Given the description of an element on the screen output the (x, y) to click on. 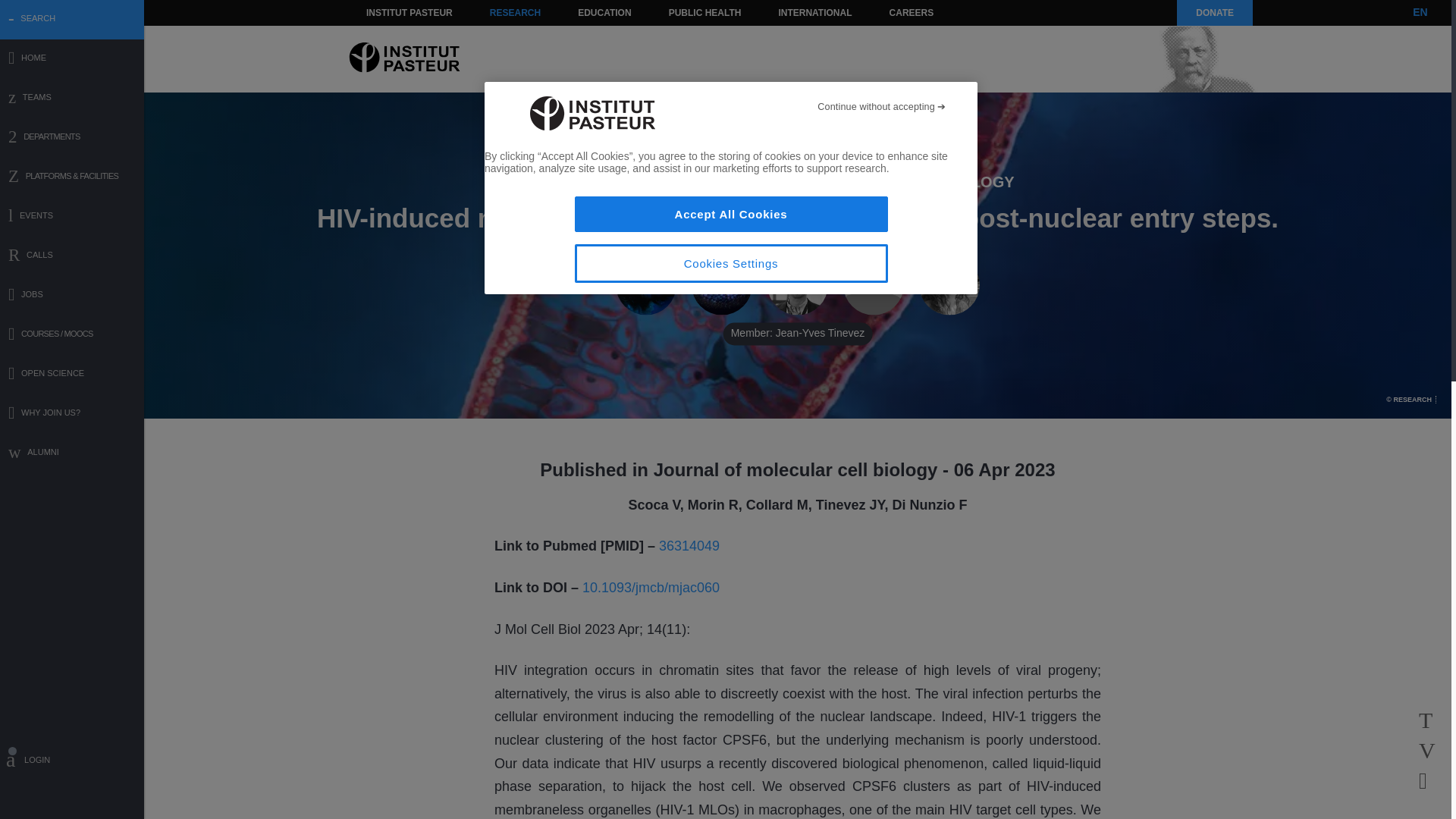
Skip to content (387, 11)
WHY JOIN US? (72, 413)
HOME (72, 59)
INTERNATIONAL (814, 12)
ALUMNI (72, 454)
DEPARTMENTS (72, 137)
RESEARCH (515, 12)
EN (1419, 11)
EVENTS (72, 217)
LOGIN (72, 762)
CALLS (72, 256)
Skip to content (387, 11)
INSTITUT PASTEUR (409, 12)
EDUCATION (603, 12)
TEAMS (72, 98)
